Given the description of an element on the screen output the (x, y) to click on. 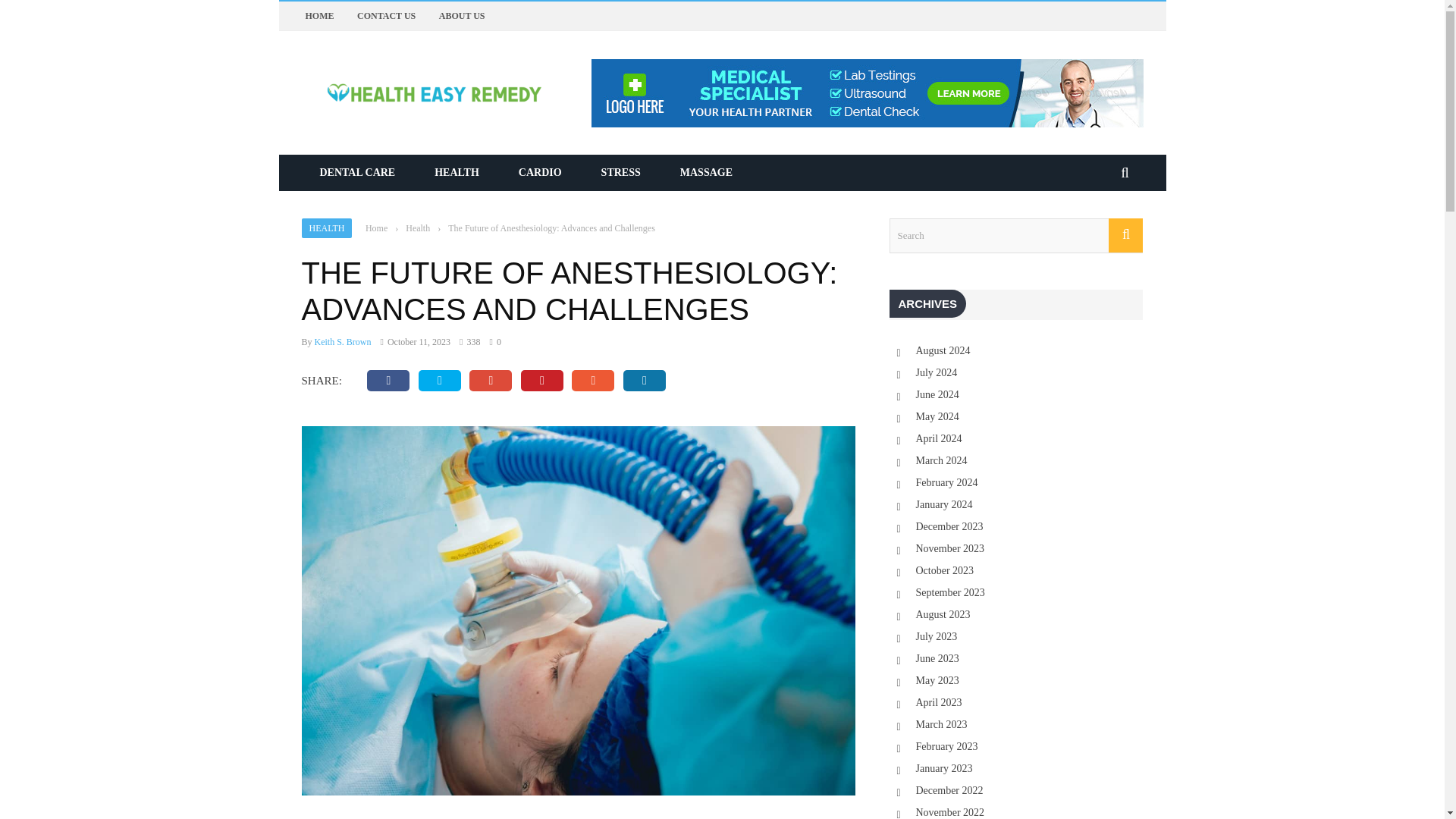
HOME (318, 15)
CONTACT US (385, 15)
STRESS (621, 172)
DENTAL CARE (357, 172)
Home (376, 227)
HEALTH (456, 172)
Keith S. Brown (342, 341)
Search (1015, 235)
Health (417, 227)
HEALTH (326, 228)
